Given the description of an element on the screen output the (x, y) to click on. 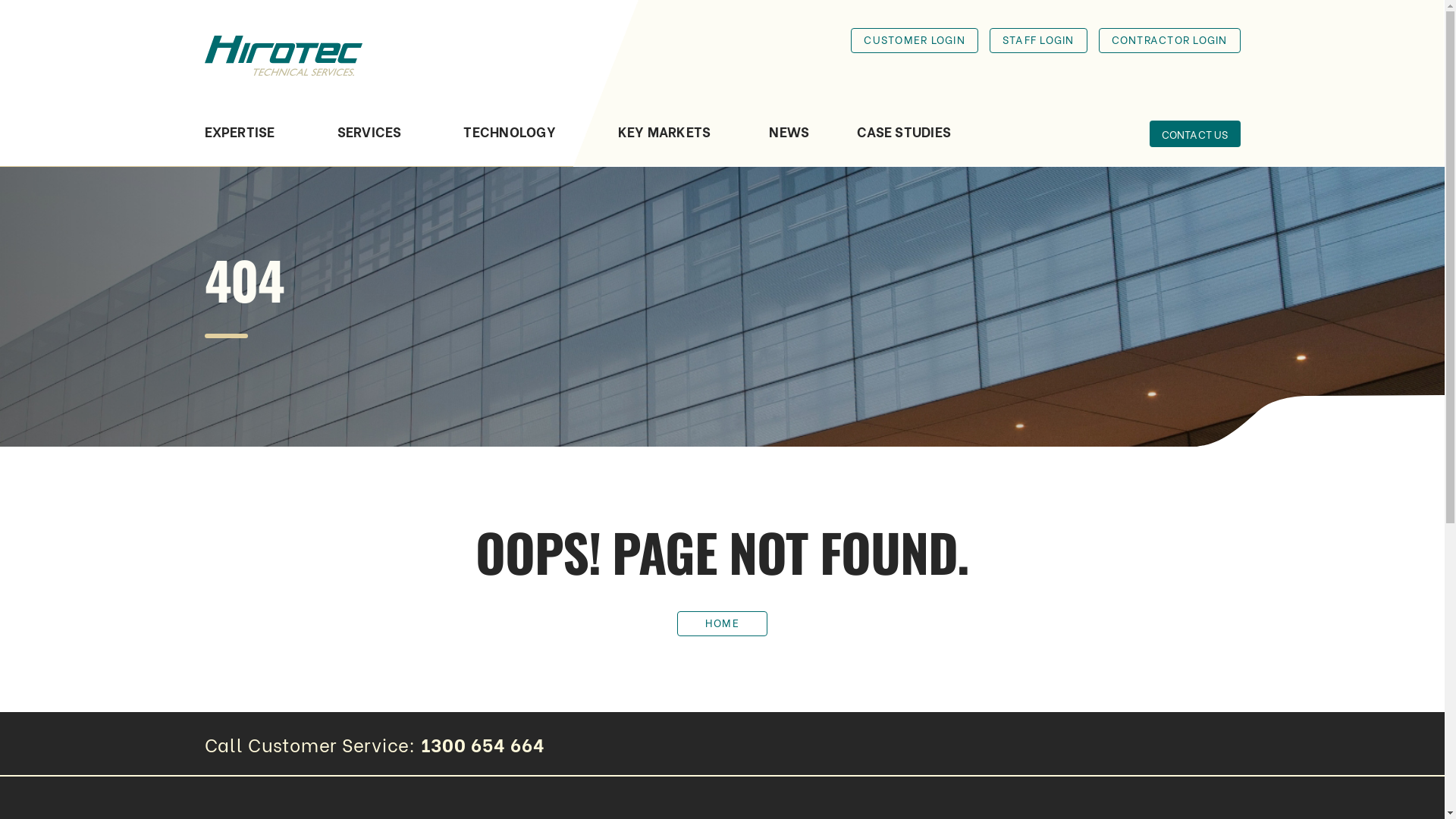
CUSTOMER LOGIN Element type: text (913, 40)
CONTACT US Element type: text (1194, 133)
TECHNOLOGY Element type: text (509, 144)
CONTRACTOR LOGIN Element type: text (1169, 40)
EXPERTISE Element type: text (239, 144)
STAFF LOGIN Element type: text (1038, 40)
HOME Element type: text (722, 623)
KEY MARKETS Element type: text (664, 144)
NEWS Element type: text (788, 144)
1300 654 664 Element type: text (482, 743)
SERVICES Element type: text (369, 144)
CASE STUDIES Element type: text (903, 144)
